Given the description of an element on the screen output the (x, y) to click on. 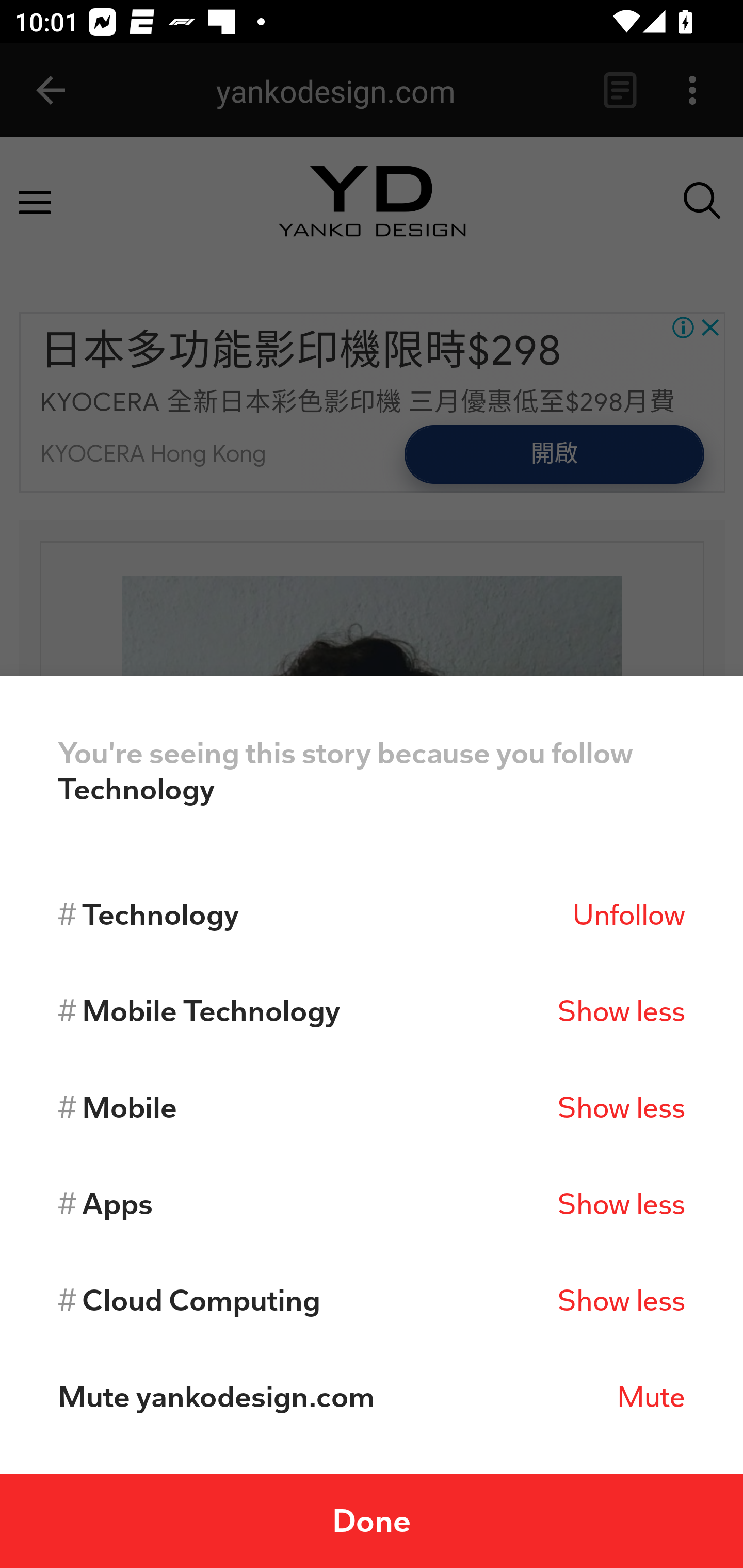
Unfollow (628, 914)
Show less (621, 1011)
Show less (621, 1107)
Show less (621, 1204)
Show less (621, 1300)
Mute (651, 1396)
Done (371, 1520)
